Given the description of an element on the screen output the (x, y) to click on. 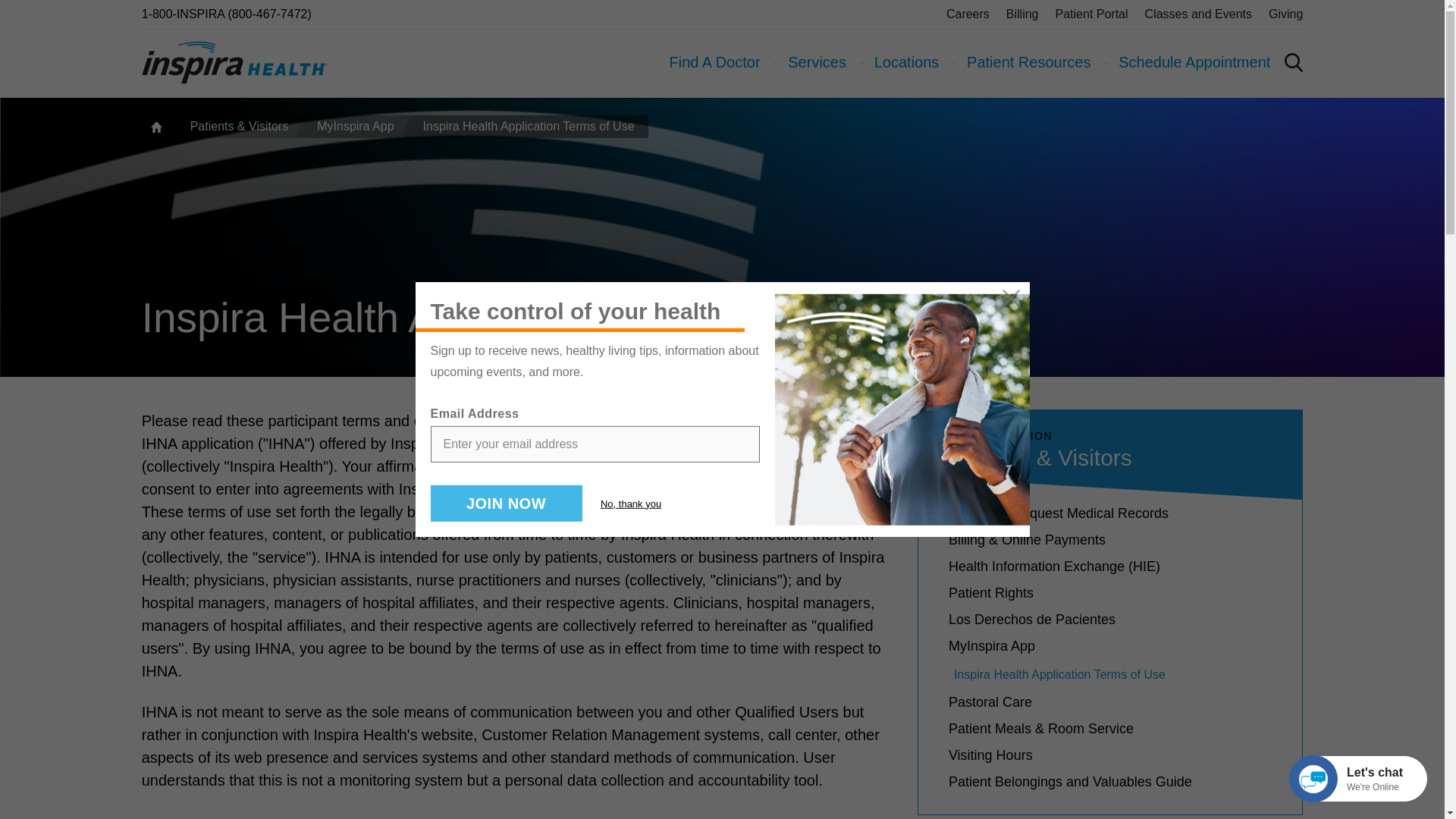
Schedule Appointment (1193, 62)
Careers (968, 13)
MyInspira App (351, 126)
Giving (1285, 13)
JOIN NOW (506, 503)
Open the Search Overlay (1293, 62)
Classes and Events (1198, 13)
Locations (907, 62)
Return to Homepage (234, 62)
Home (154, 126)
Go to Home page (154, 126)
Call Inspira (226, 14)
Patient Resources (1028, 62)
Patient Portal (1091, 13)
